Given the description of an element on the screen output the (x, y) to click on. 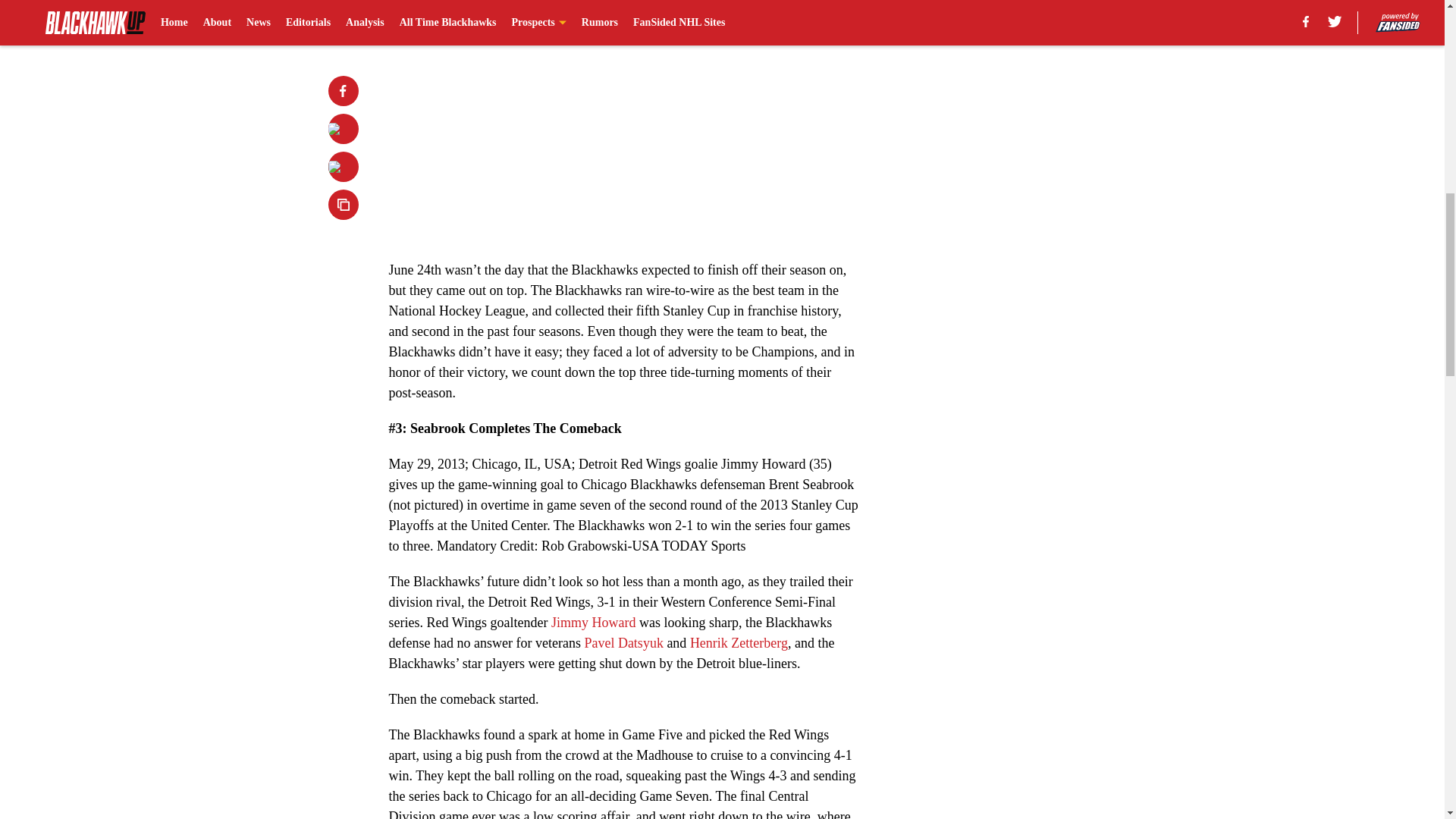
Henrik Zetterberg (738, 642)
Pavel Datsyuk (622, 642)
Jimmy Howard (593, 622)
